Given the description of an element on the screen output the (x, y) to click on. 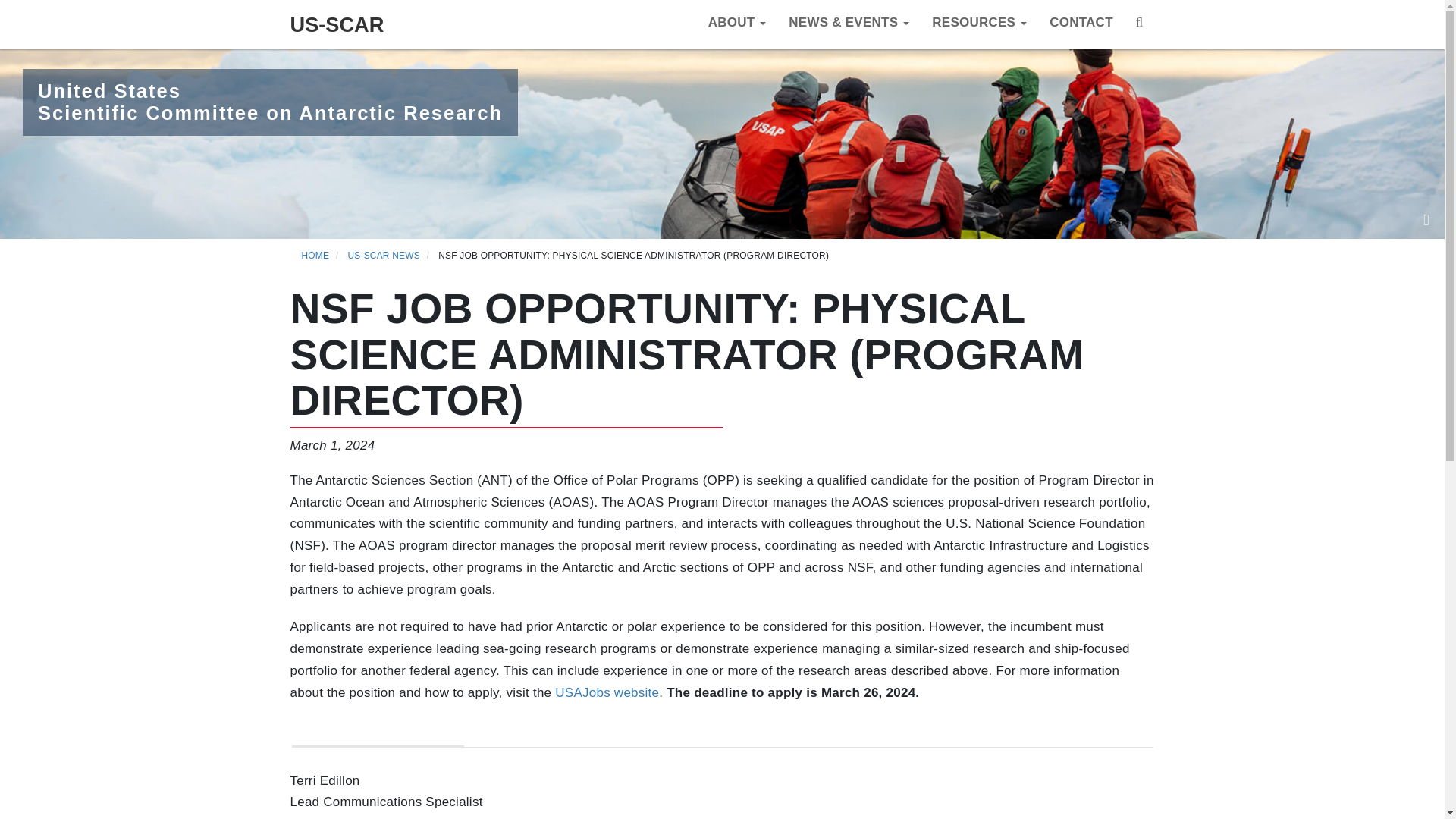
HOME (315, 255)
US-SCAR (337, 24)
USAJobs website (606, 692)
ABOUT (737, 24)
RESOURCES (979, 24)
US-SCAR NEWS (383, 255)
Home (337, 24)
CONTACT (1081, 24)
